Given the description of an element on the screen output the (x, y) to click on. 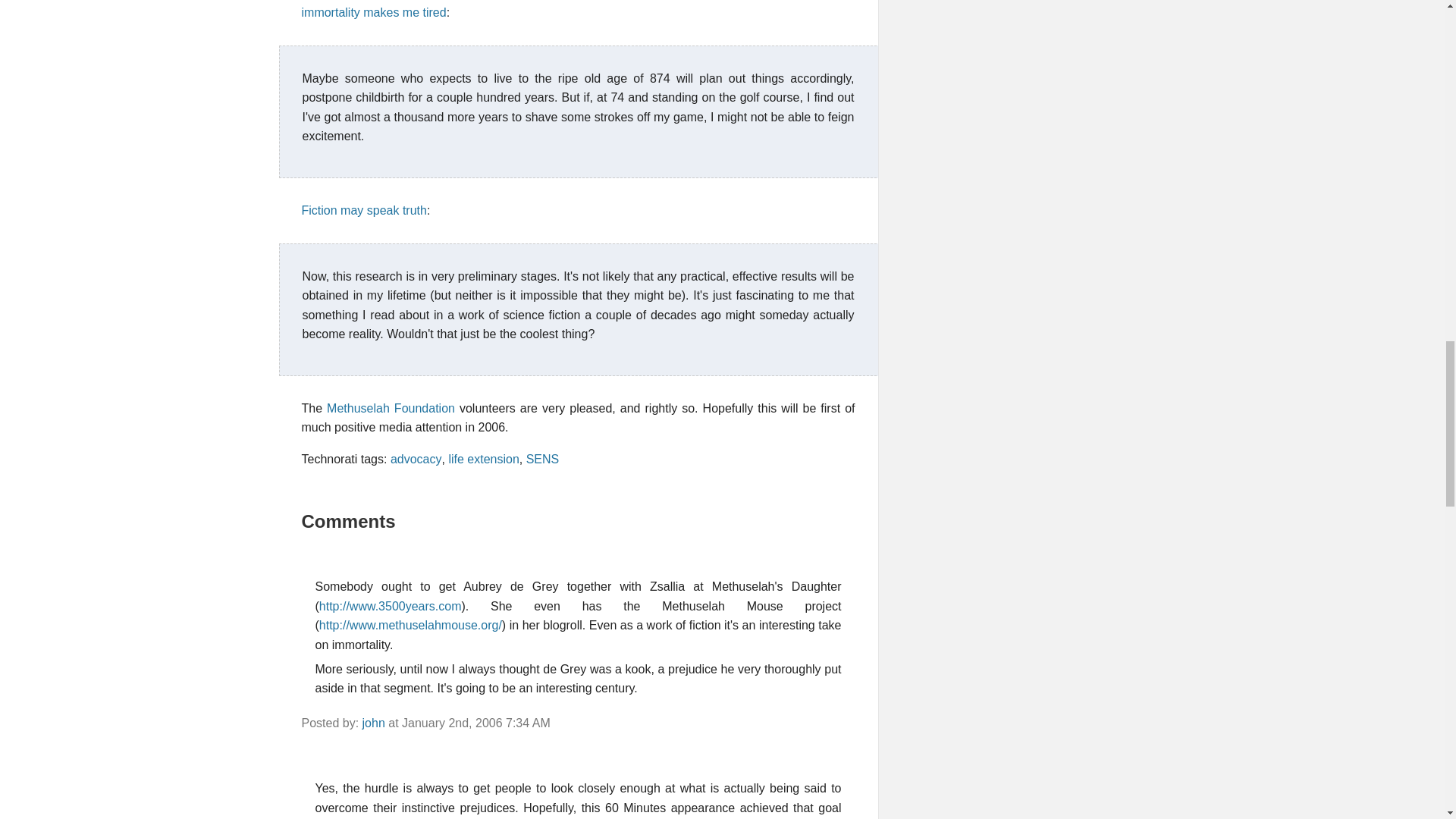
life extension (483, 459)
john (373, 722)
Methuselah Foundation (390, 408)
SENS (542, 459)
advocacy (416, 459)
Fiction may speak truth (363, 210)
immortality makes me tired (373, 11)
